Given the description of an element on the screen output the (x, y) to click on. 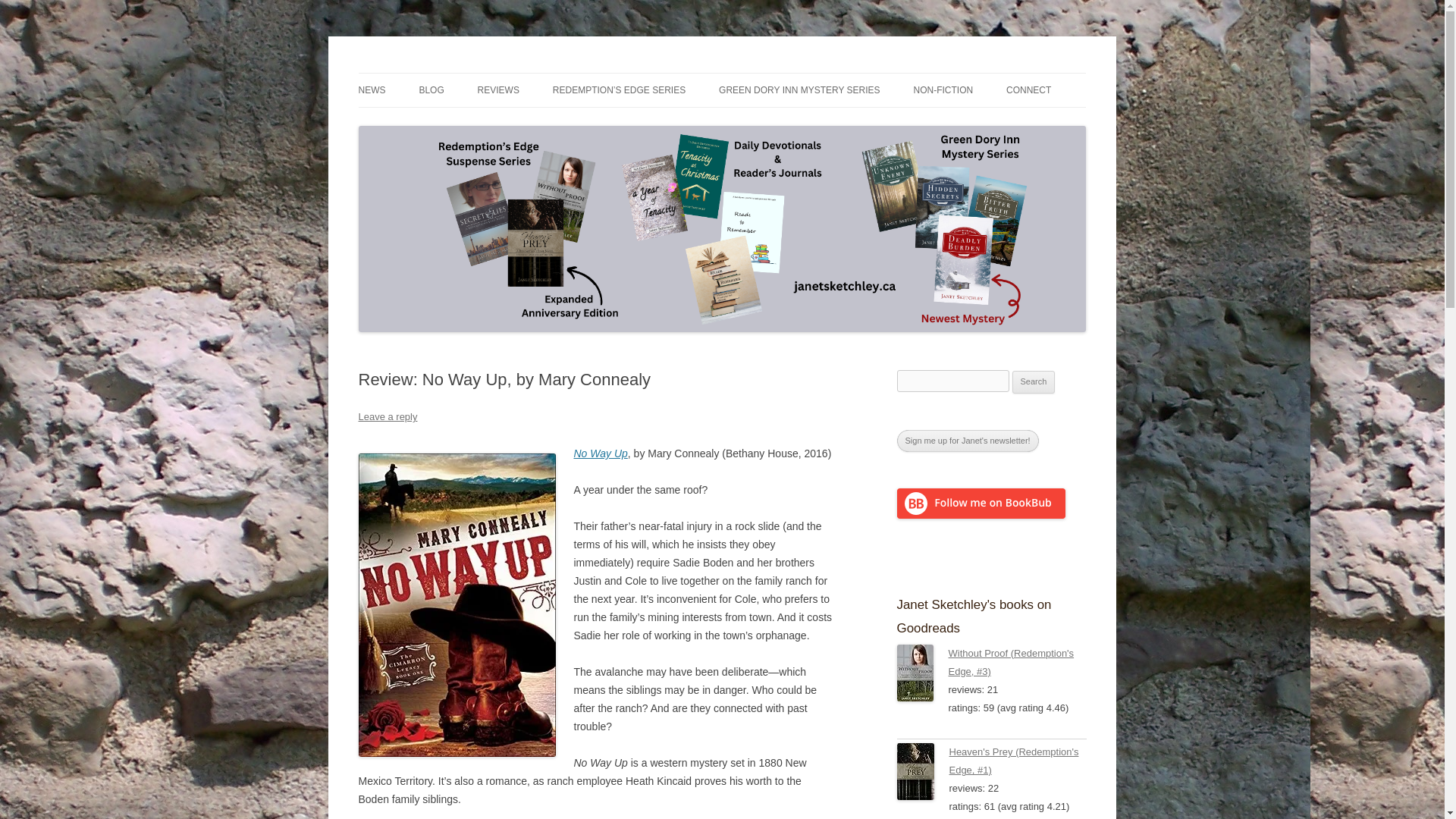
A YEAR OF TENACITY: 365 DAILY DEVOTIONS (988, 131)
NON-FICTION (942, 90)
Search (1033, 382)
Leave a reply (387, 416)
ABOUT (1081, 122)
Janet Sketchley (432, 72)
REVIEWS (498, 90)
GREEN DORY INN MYSTERY SERIES (799, 90)
CONNECT (1028, 90)
